Given the description of an element on the screen output the (x, y) to click on. 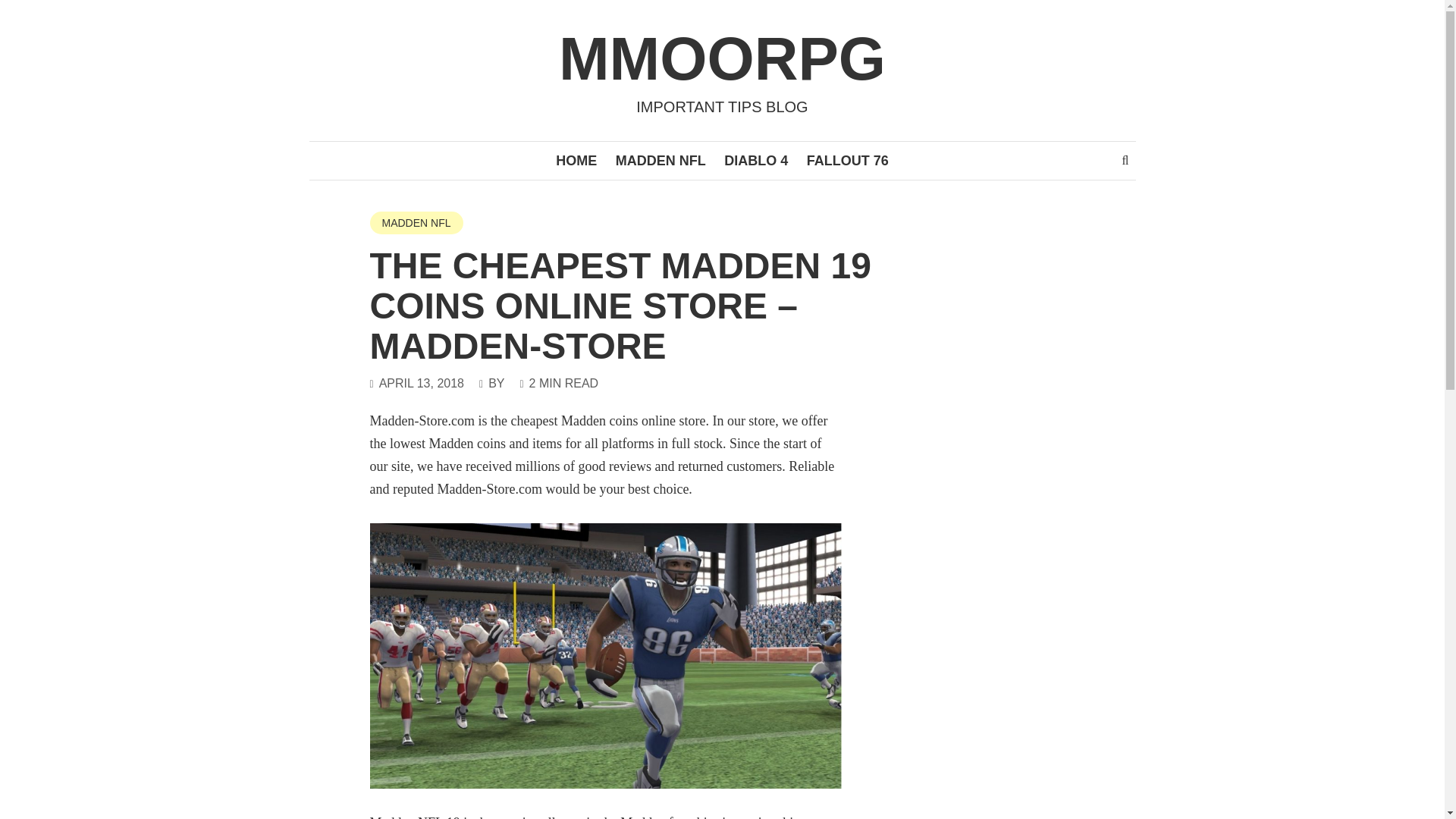
FALLOUT 76 (847, 160)
HOME (576, 160)
MADDEN NFL (416, 222)
DIABLO 4 (755, 160)
MADDEN NFL (660, 160)
MMOORPG (722, 58)
